Given the description of an element on the screen output the (x, y) to click on. 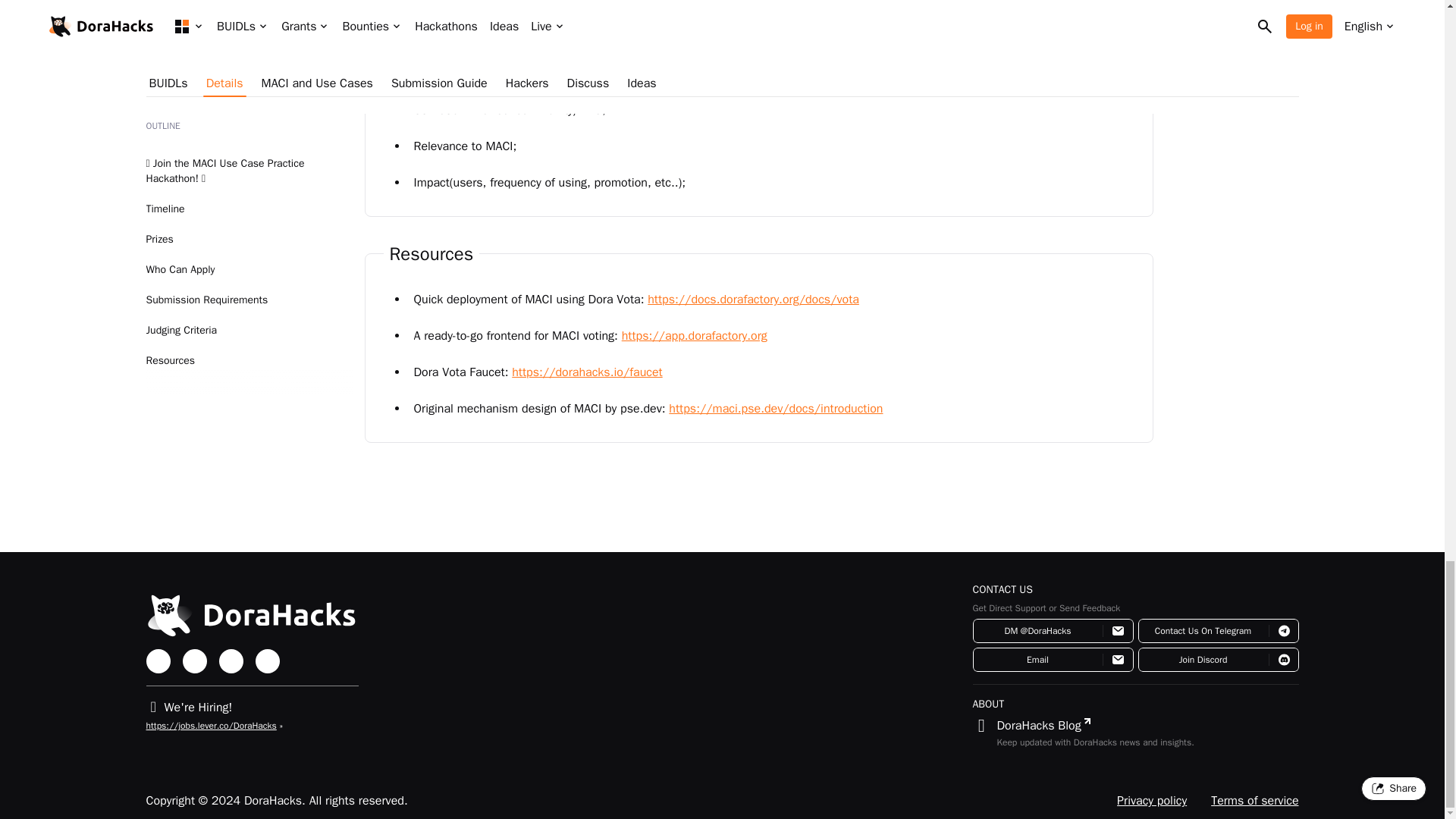
Email (1052, 659)
Privacy policy (1151, 800)
DoraHacks Blog (1040, 725)
Contact Us On Telegram (1217, 630)
Terms of service (1254, 800)
Join Discord (1217, 659)
